Given the description of an element on the screen output the (x, y) to click on. 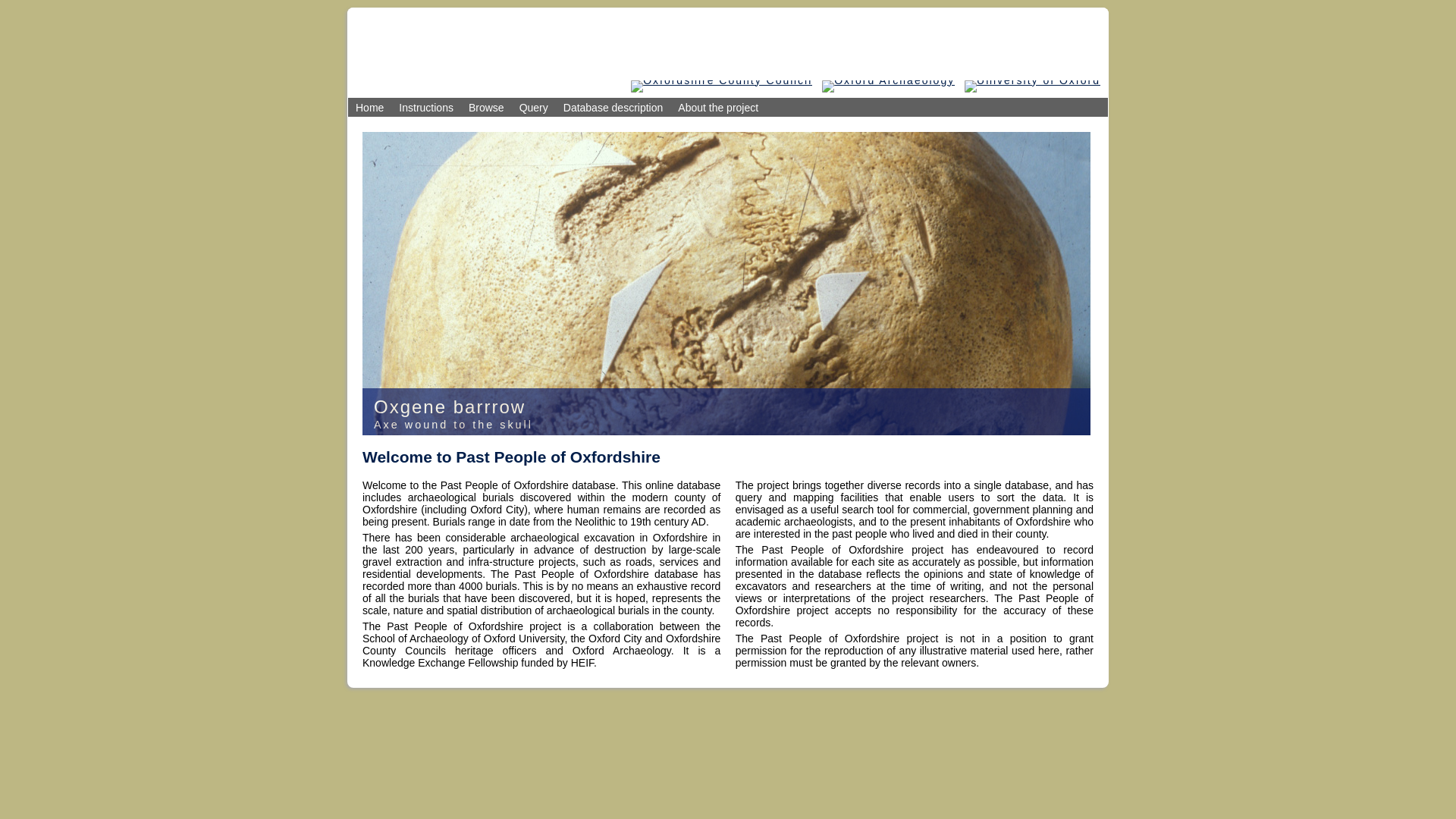
About the project (717, 107)
Oxfordshire County Council (720, 80)
Oxford Archaeology (888, 80)
Home (369, 107)
Database description (613, 107)
Instructions (426, 107)
Browse (486, 107)
Query (534, 107)
University of Oxford (1032, 80)
